Given the description of an element on the screen output the (x, y) to click on. 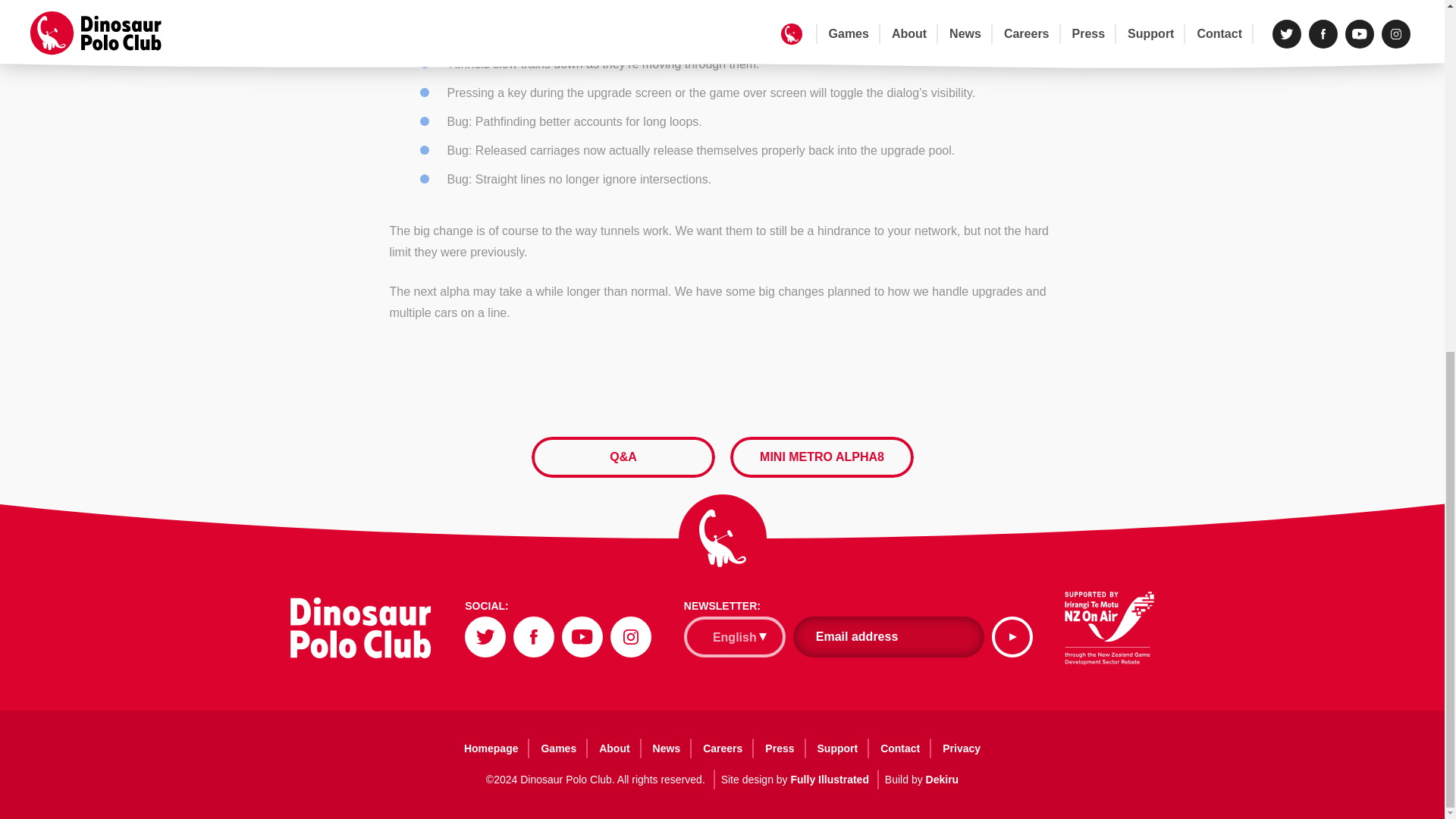
Press (779, 748)
Facebook (533, 636)
Contact (900, 748)
About (614, 748)
Careers (722, 748)
News (667, 748)
Fully Illustrated (828, 779)
YouTube (582, 636)
Twitter (484, 636)
Homepage (490, 748)
Privacy (961, 748)
Instagram (630, 636)
Games (558, 748)
Dekiru. Website design and build for indie games studios. (942, 779)
Support (837, 748)
